Given the description of an element on the screen output the (x, y) to click on. 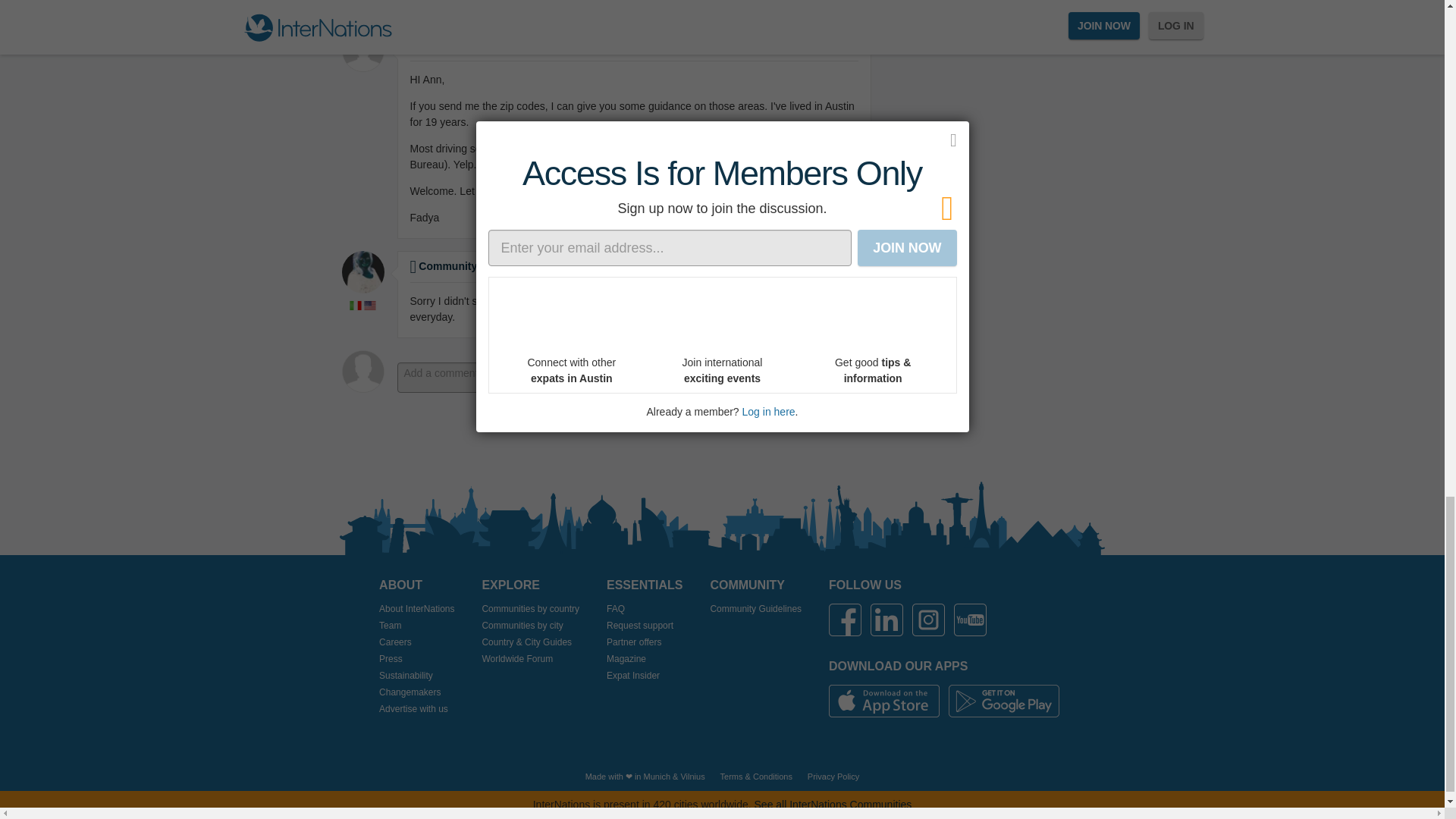
About InterNations (416, 608)
Community member (465, 265)
Living in United States of America (369, 305)
Sustainability (416, 675)
Advertise with us (416, 708)
Team (416, 624)
Changemakers (416, 692)
REPLY (844, 416)
Careers (416, 642)
Germany (656, 776)
